Given the description of an element on the screen output the (x, y) to click on. 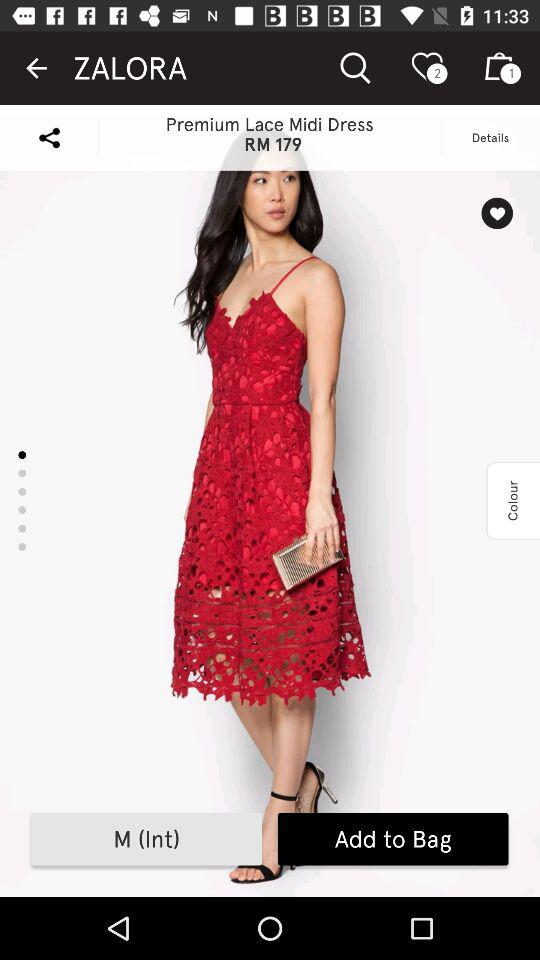
select the m (int) (146, 839)
